Given the description of an element on the screen output the (x, y) to click on. 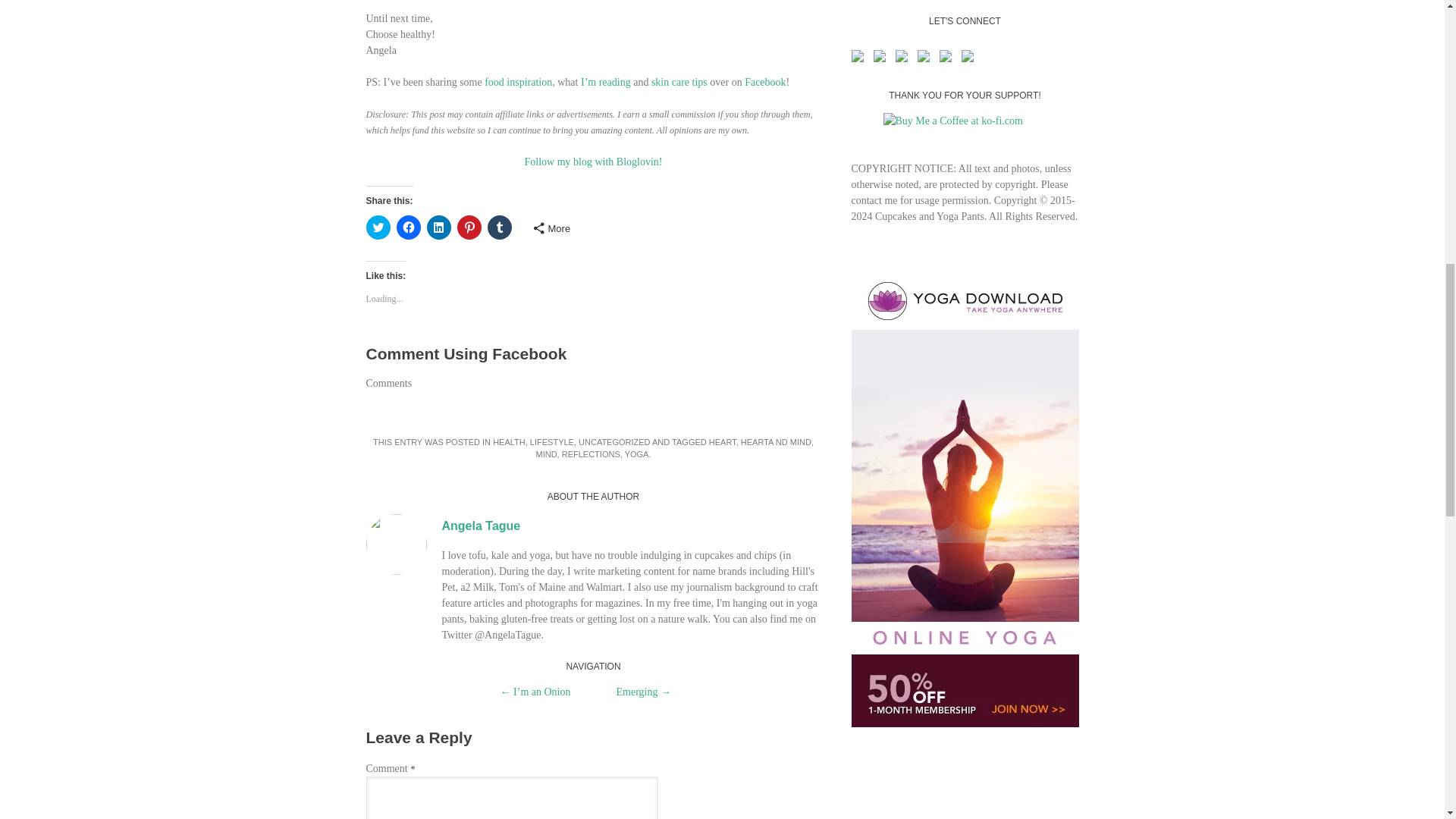
Follow my blog with Bloglovin! (593, 161)
Click to share on Tumblr (498, 227)
skin care tips (678, 81)
HEART (722, 441)
Angela Tague (480, 525)
Click to share on LinkedIn (437, 227)
HEALTH (509, 441)
YOGA (636, 453)
REFLECTIONS (591, 453)
MIND (545, 453)
